Given the description of an element on the screen output the (x, y) to click on. 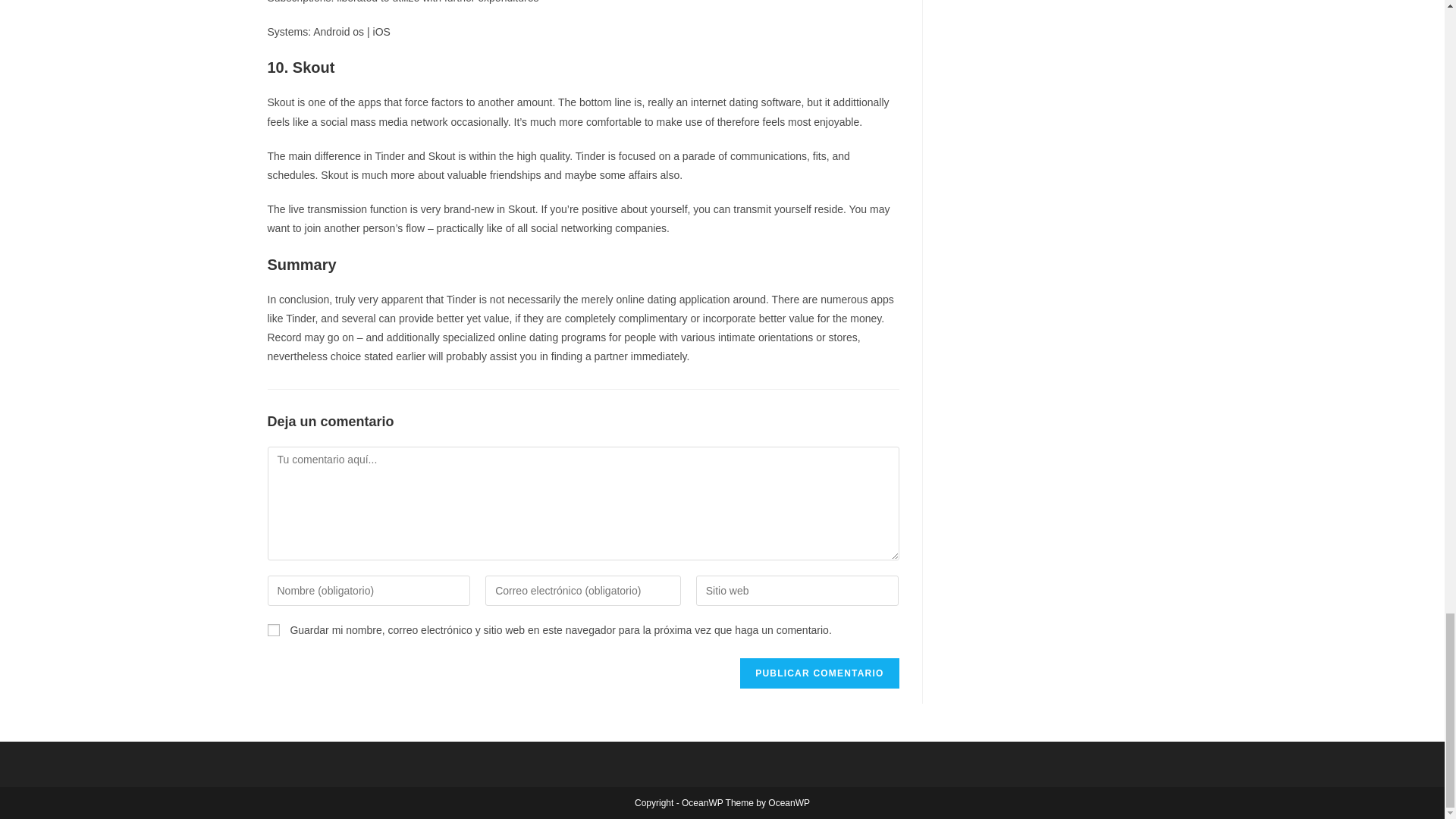
Publicar comentario (818, 673)
Publicar comentario (818, 673)
yes (272, 630)
